Given the description of an element on the screen output the (x, y) to click on. 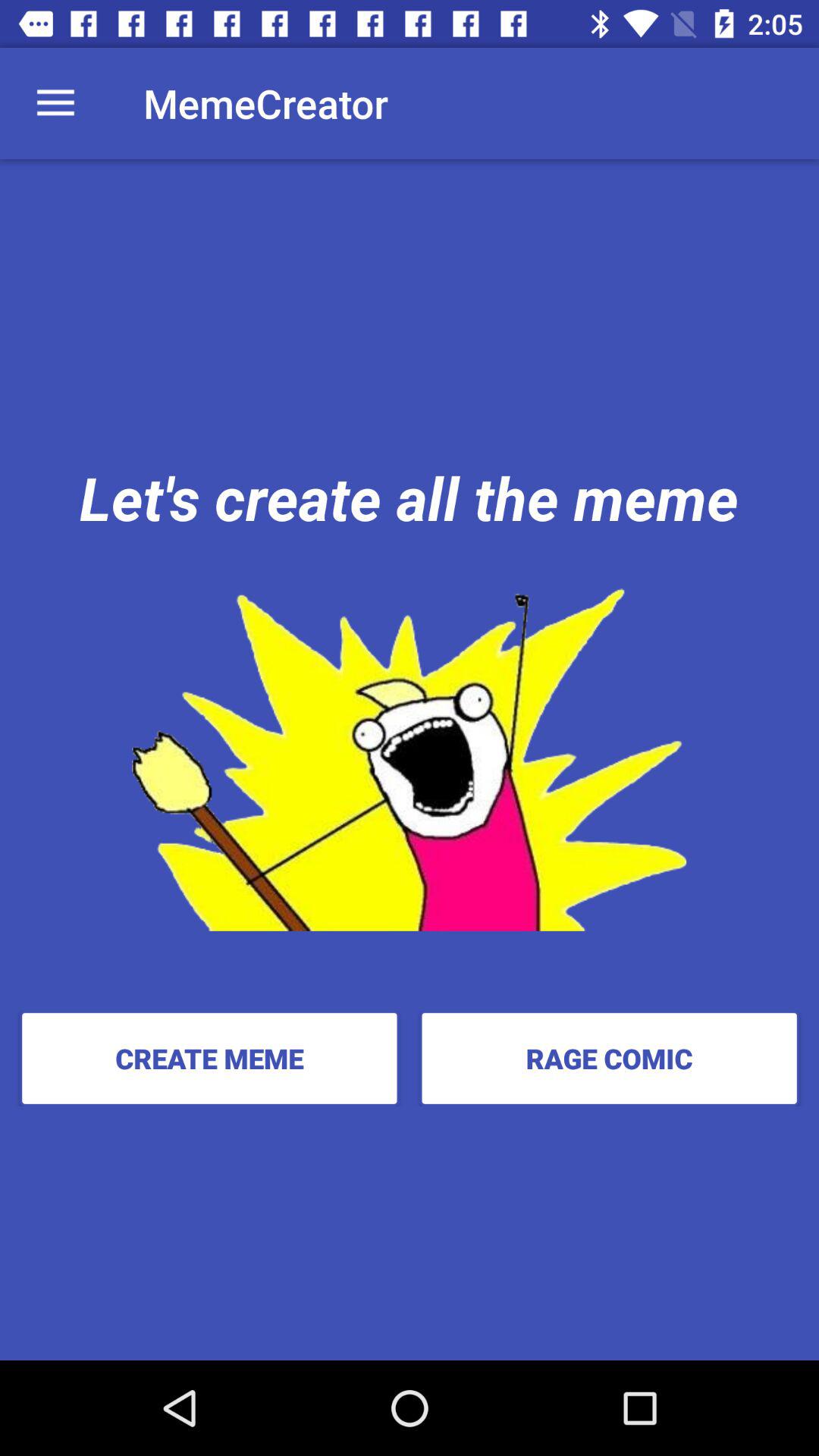
click item to the right of the create meme icon (609, 1058)
